Given the description of an element on the screen output the (x, y) to click on. 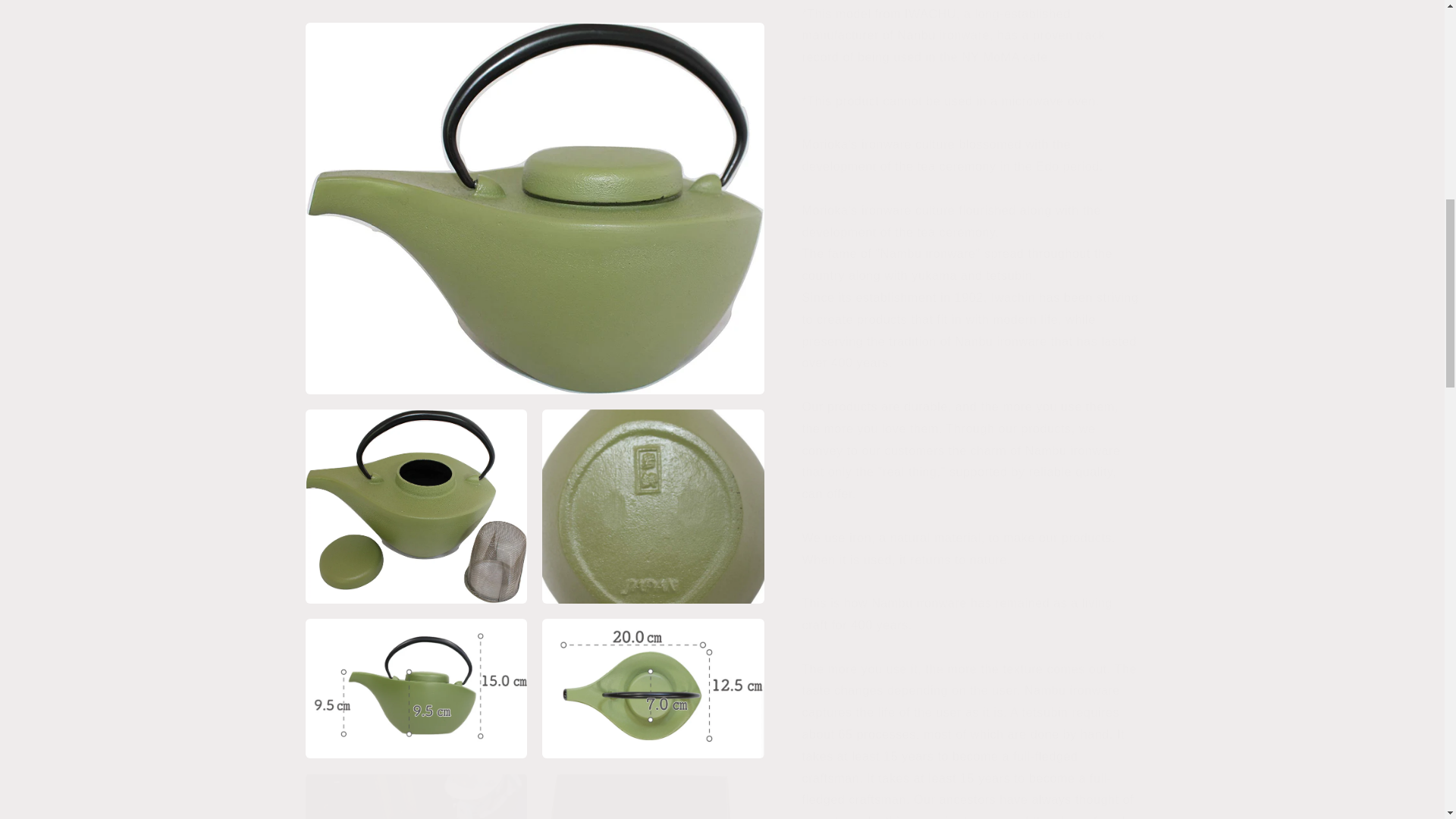
Open media 6 in modal (415, 183)
Open media 7 in modal (652, 183)
Open media 4 in modal (415, 22)
Open media 5 in modal (652, 22)
